Given the description of an element on the screen output the (x, y) to click on. 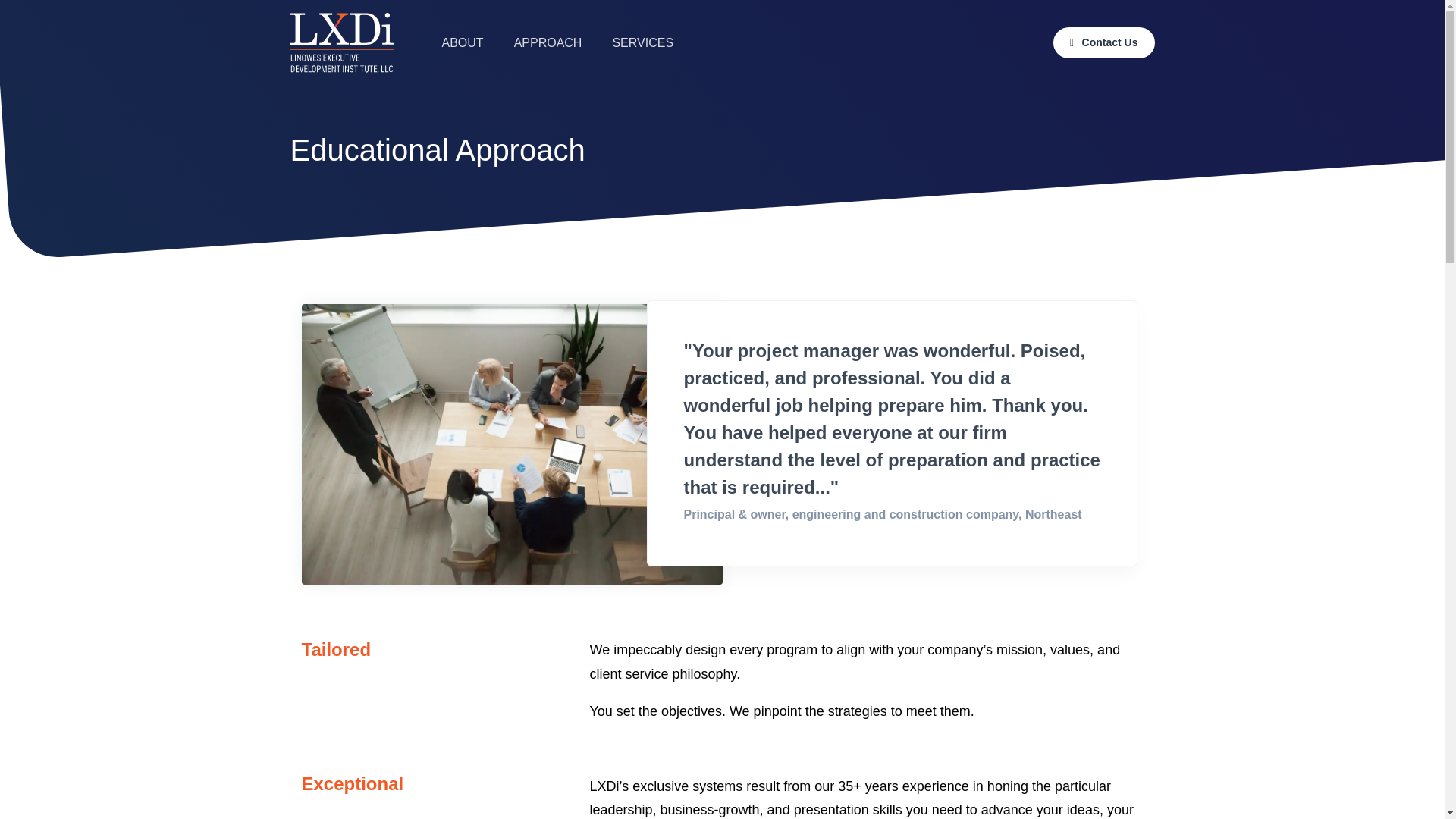
ABOUT (462, 42)
APPROACH (548, 42)
Contact Us (1103, 42)
SERVICES (642, 42)
